Given the description of an element on the screen output the (x, y) to click on. 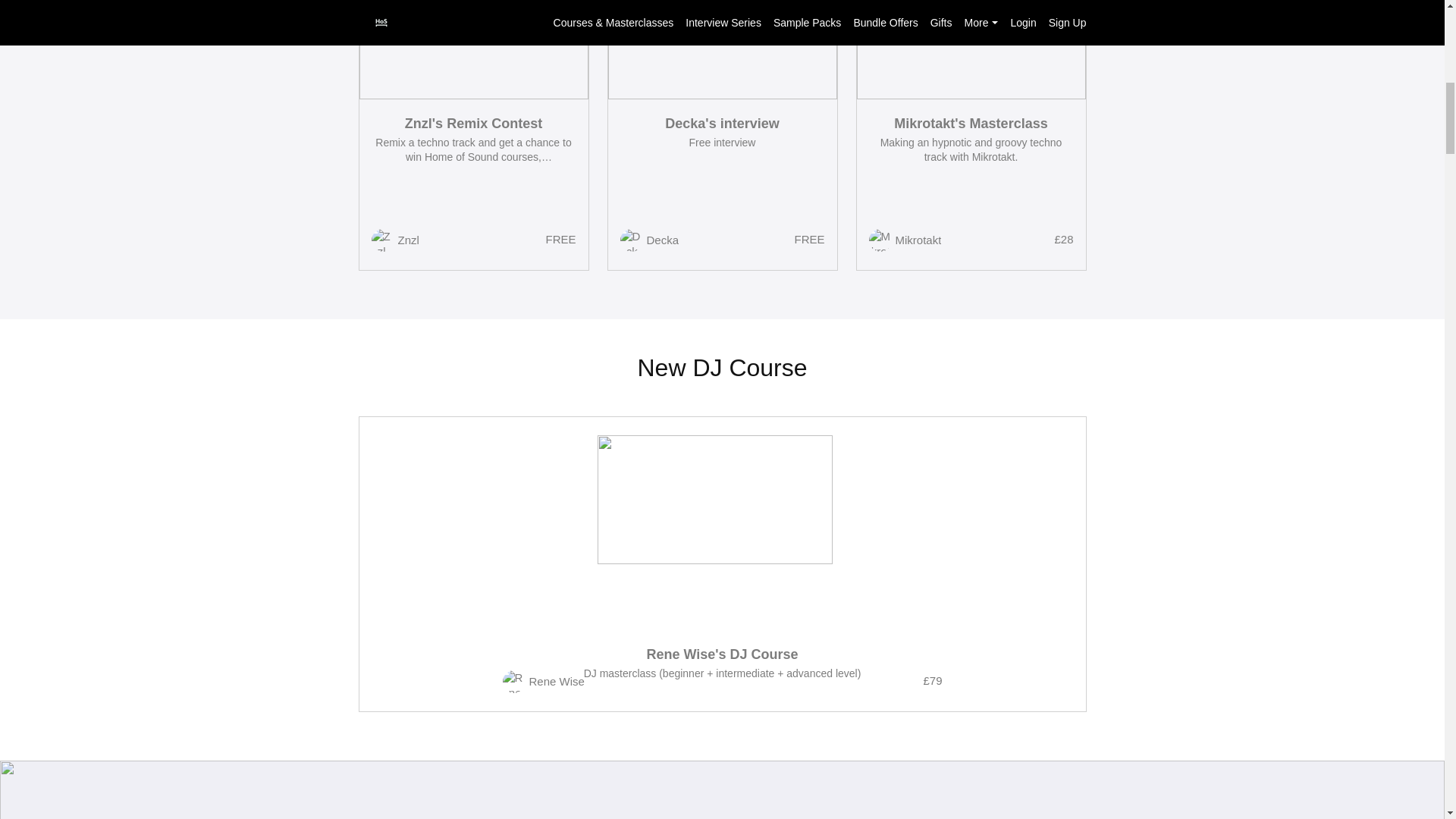
Znzl's Remix Contest (473, 123)
Decka's interview (722, 123)
Making an hypnotic and groovy techno track with Mikrotakt. (971, 149)
Mikrotakt (917, 240)
Znzl (408, 240)
Mikrotakt's Masterclass (971, 123)
Free interview  (722, 142)
Decka (662, 240)
Rene Wise (557, 681)
Rene Wise's DJ Course (722, 654)
